Given the description of an element on the screen output the (x, y) to click on. 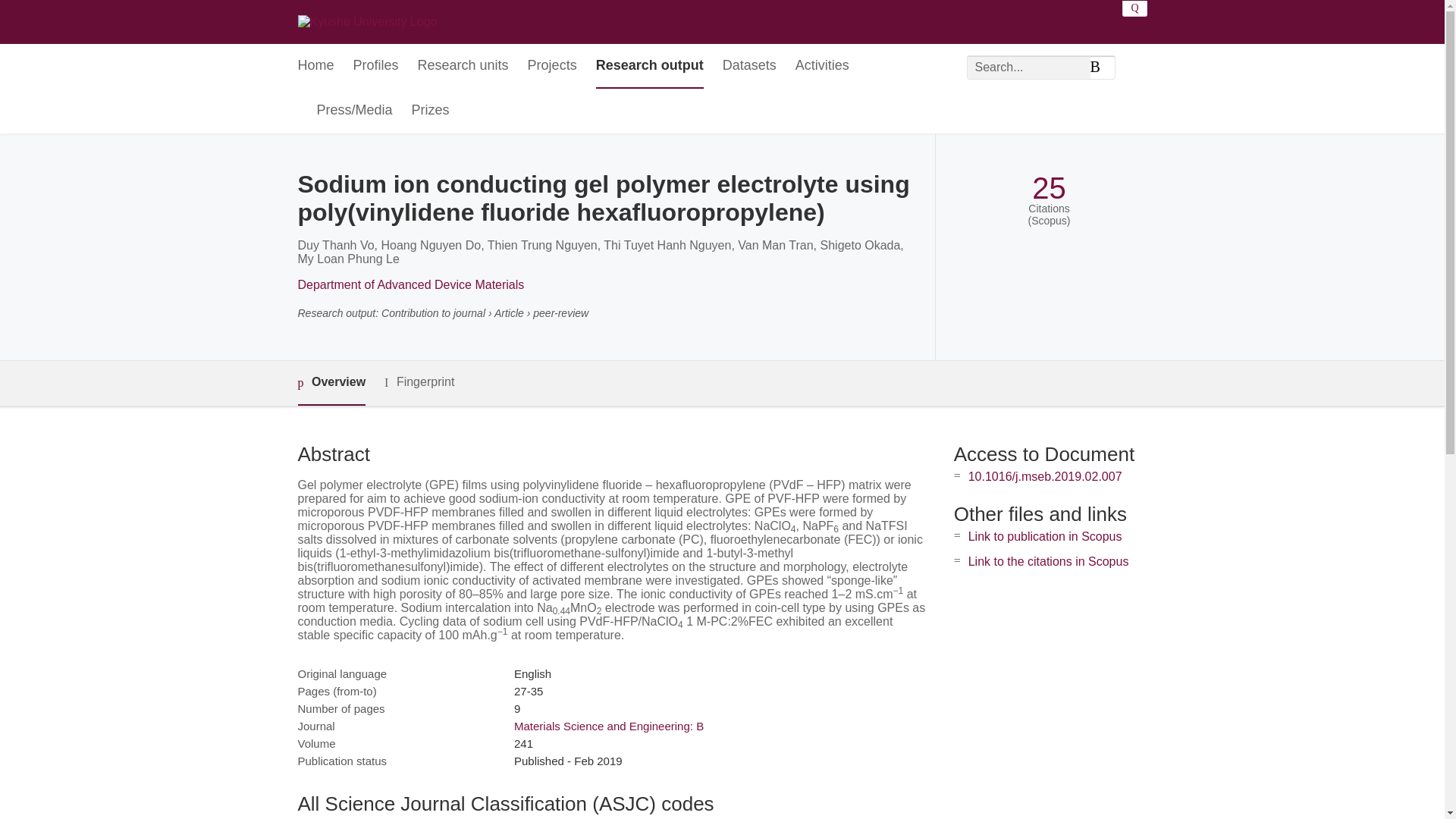
Fingerprint (419, 382)
25 (1048, 188)
Projects (551, 66)
Link to publication in Scopus (1045, 535)
Activities (821, 66)
Profiles (375, 66)
Research output (649, 66)
Department of Advanced Device Materials (410, 284)
Datasets (749, 66)
Research units (462, 66)
